Given the description of an element on the screen output the (x, y) to click on. 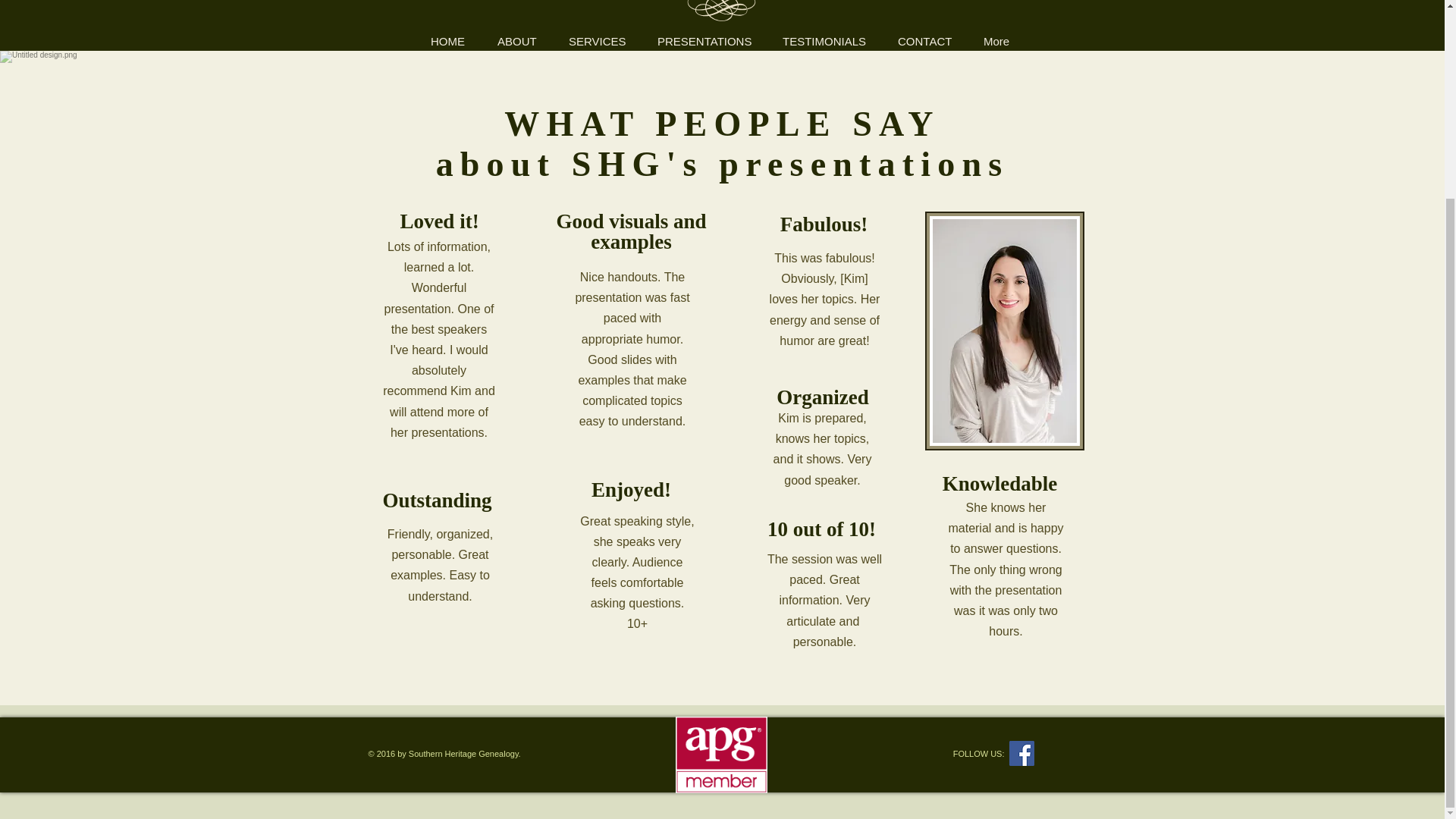
PRESENTATIONS (704, 40)
TESTIMONIALS (824, 40)
HOME (447, 40)
CONTACT (925, 40)
ABOUT (517, 40)
SERVICES (597, 40)
